Given the description of an element on the screen output the (x, y) to click on. 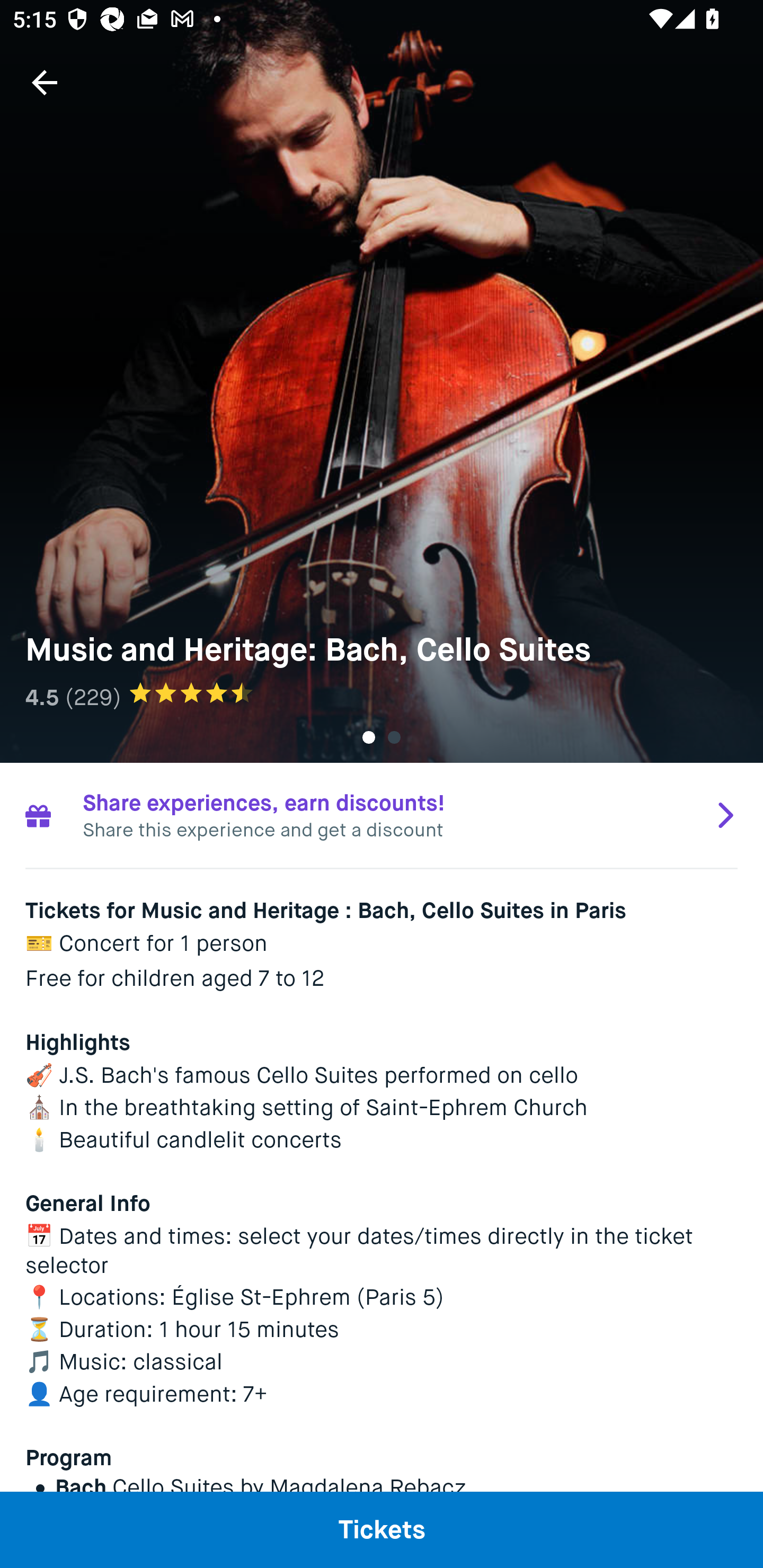
Navigate up (44, 82)
(229) (92, 697)
Tickets (381, 1529)
